Given the description of an element on the screen output the (x, y) to click on. 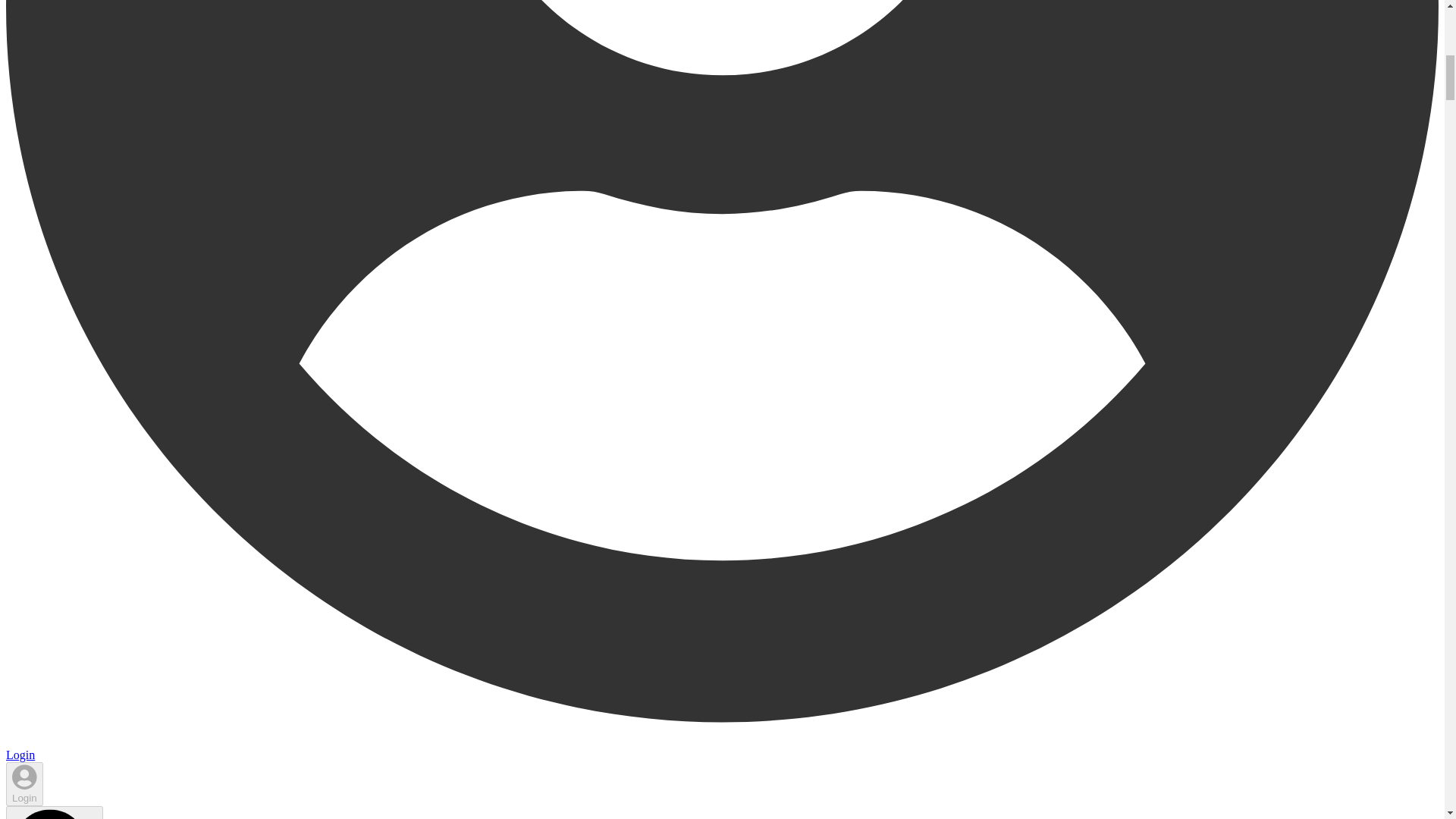
Select Language (54, 812)
Login (24, 783)
